Given the description of an element on the screen output the (x, y) to click on. 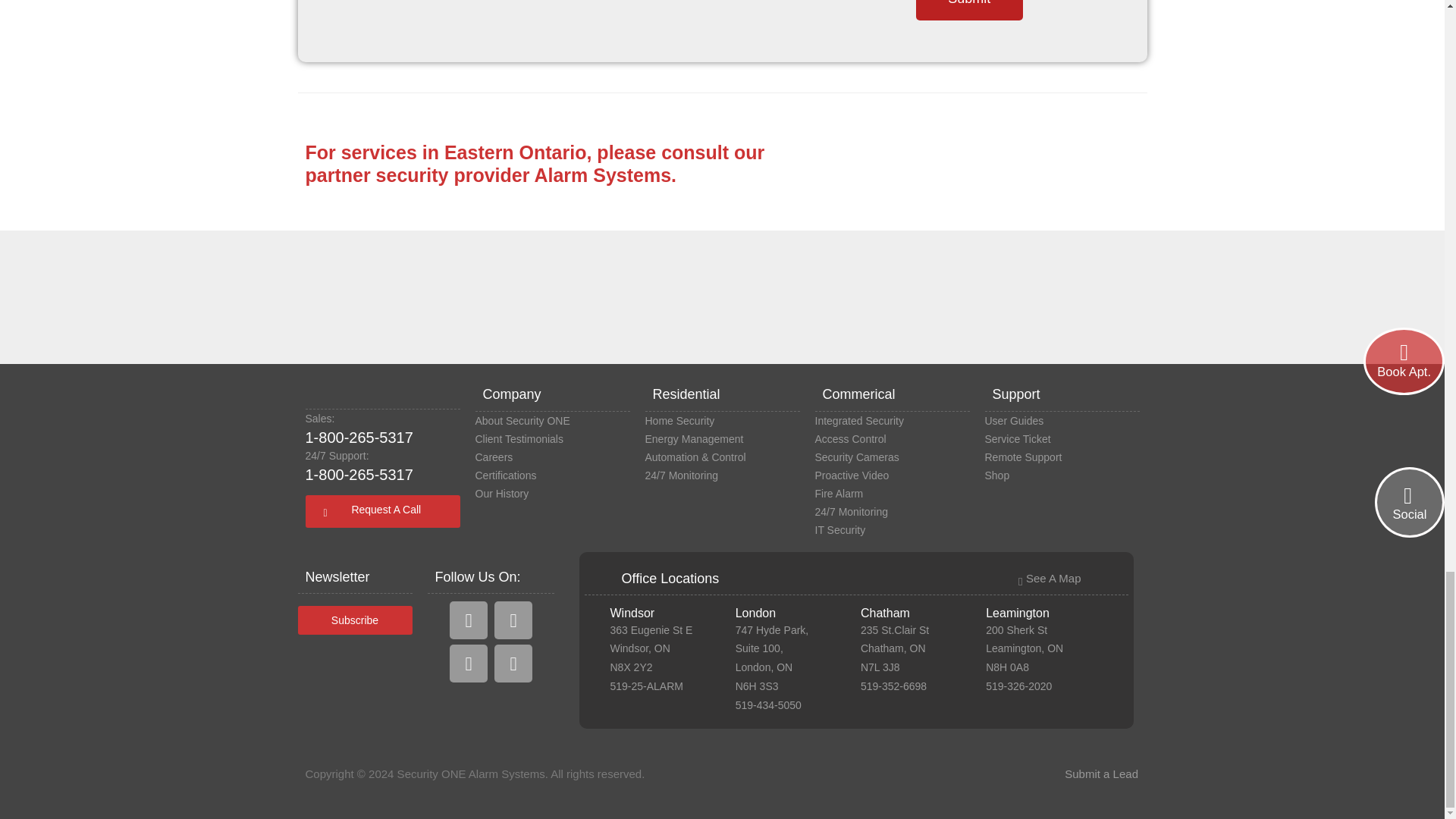
Submit (969, 10)
